Given the description of an element on the screen output the (x, y) to click on. 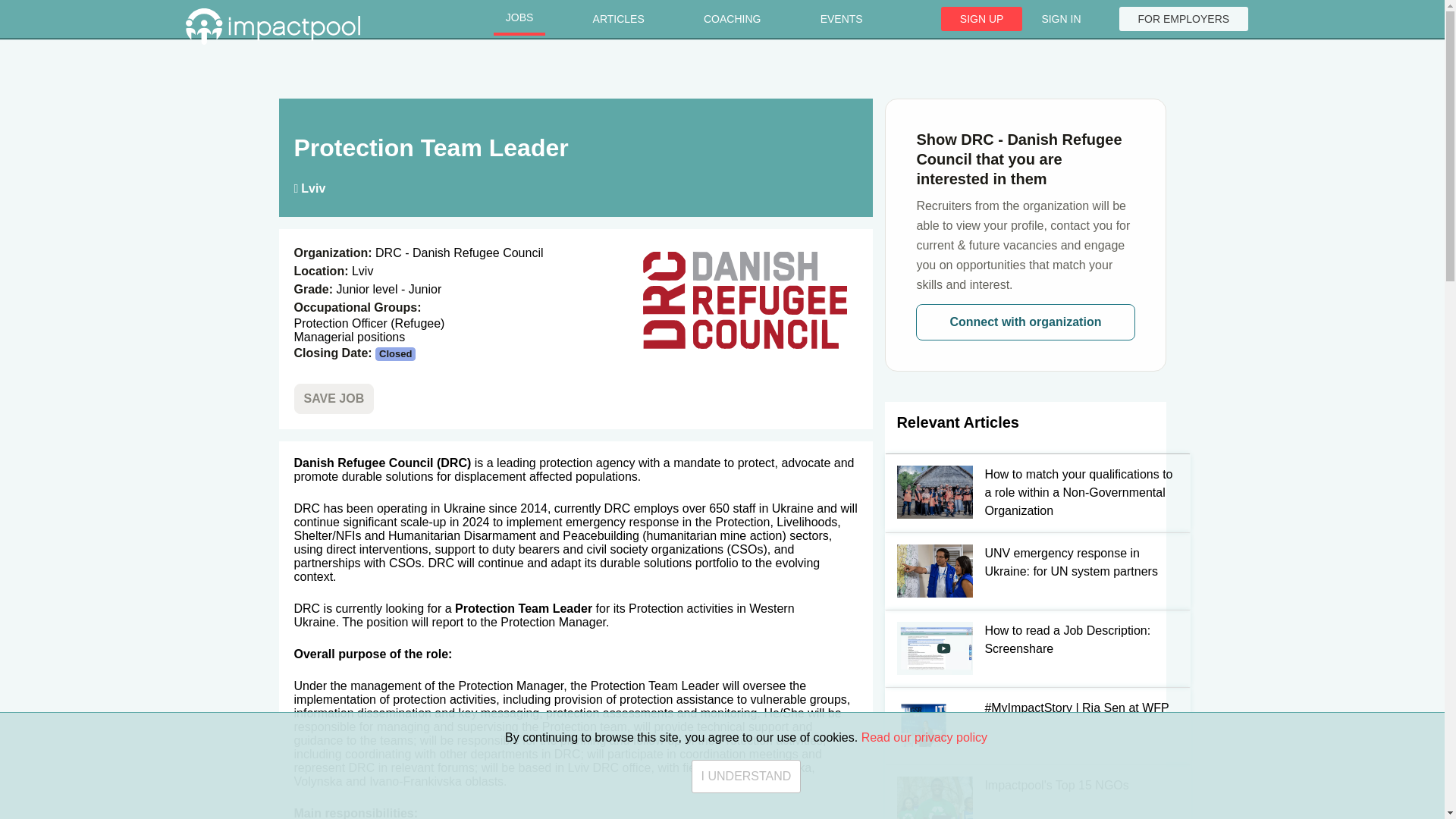
COACHING (732, 19)
How to read a Job Description: Screenshare (1025, 648)
EVENTS (841, 19)
SAVE JOB (334, 399)
JOBS (519, 19)
FOR EMPLOYERS (1184, 18)
ARTICLES (618, 19)
SIGN UP (981, 18)
UNV emergency response in Ukraine: for UN system partners (1025, 570)
SIGN IN (1060, 18)
Impactpool's Top 15 NGOs (1025, 791)
Connect with organization (1024, 321)
